Given the description of an element on the screen output the (x, y) to click on. 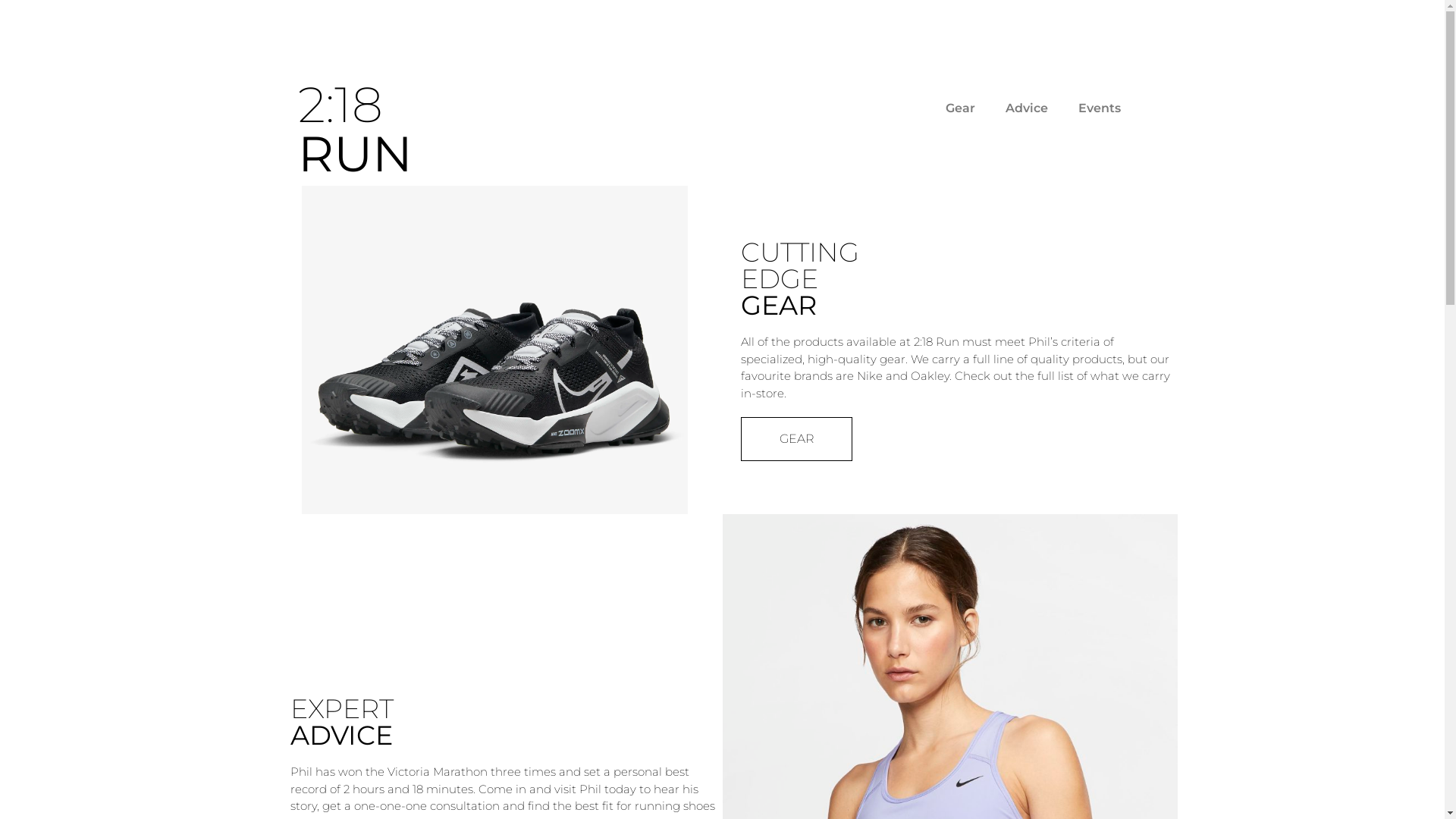
Gear Element type: text (959, 108)
2:18
RUN Element type: text (354, 128)
GEAR Element type: text (795, 439)
Events Element type: text (1099, 108)
Advice Element type: text (1026, 108)
